Given the description of an element on the screen output the (x, y) to click on. 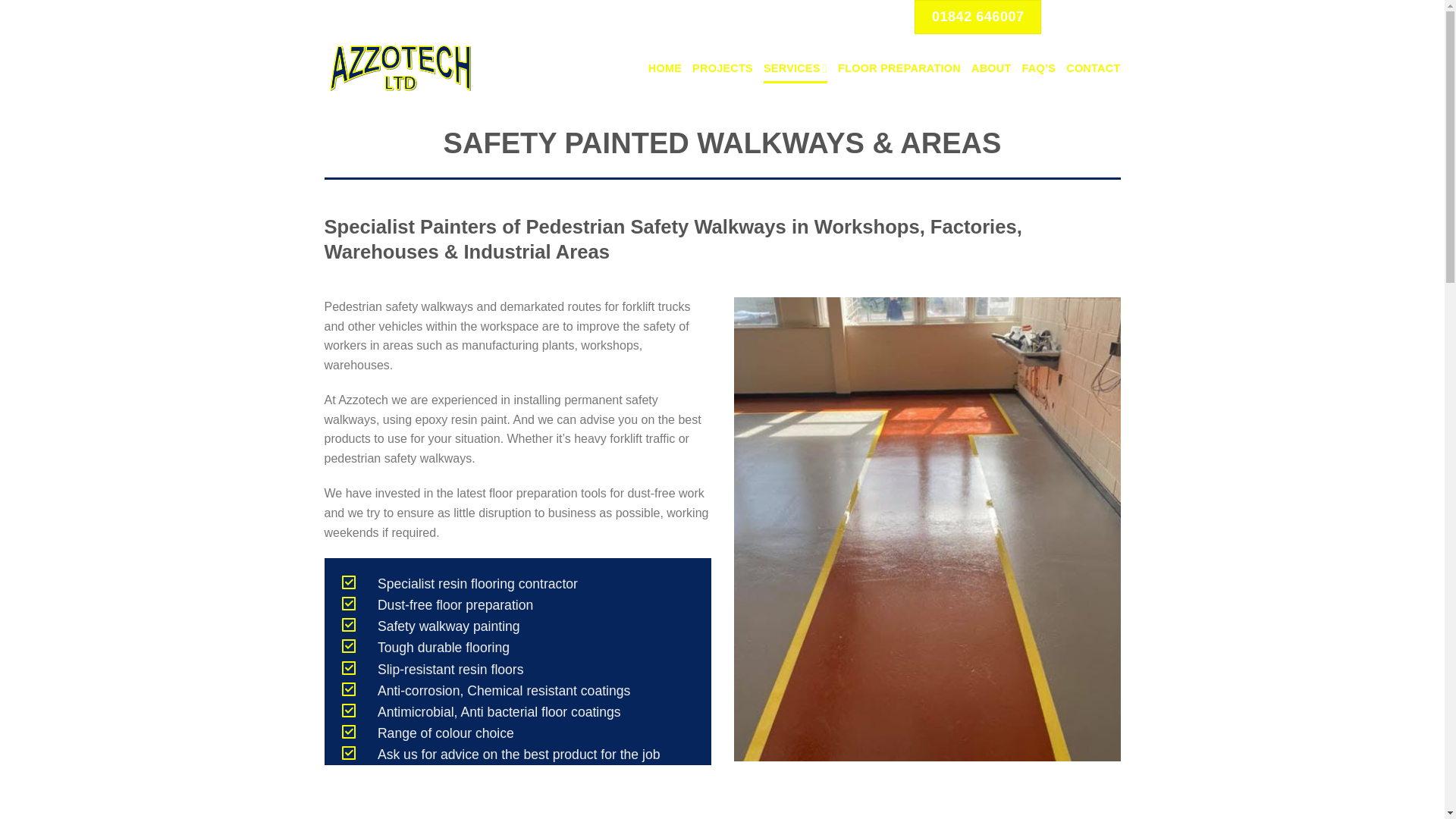
Safety walkway painting (448, 626)
01842 646007 (977, 17)
Antimicrobial, Anti bacterial floor coatings (499, 711)
PROJECTS (722, 67)
Dust-free floor preparation (454, 604)
Specialist resin flooring contractor (477, 583)
CONTACT (1092, 67)
SERVICES (794, 68)
HOME (664, 67)
FLOOR PREPARATION (899, 67)
